Given the description of an element on the screen output the (x, y) to click on. 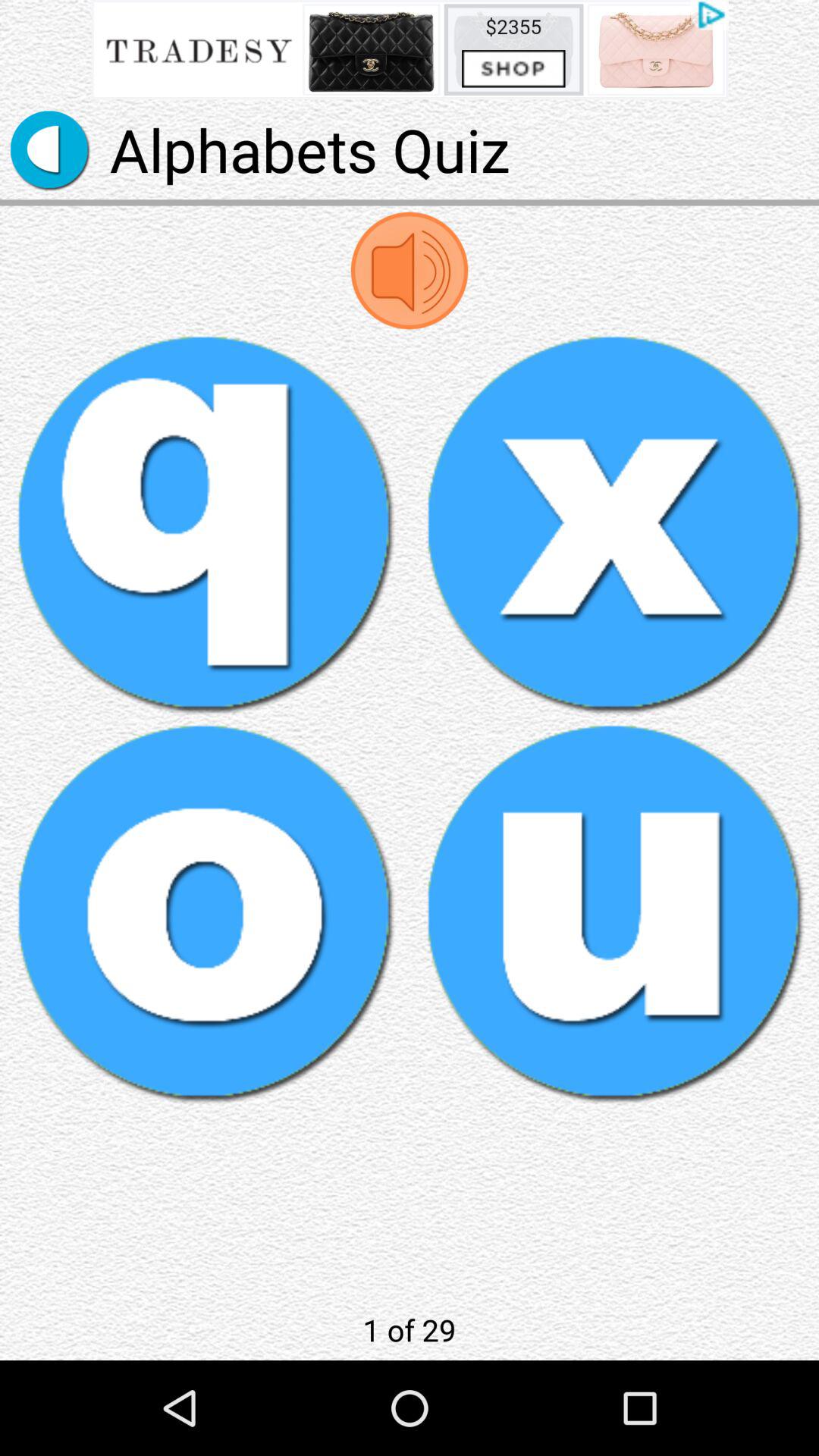
mute sound (409, 270)
